Given the description of an element on the screen output the (x, y) to click on. 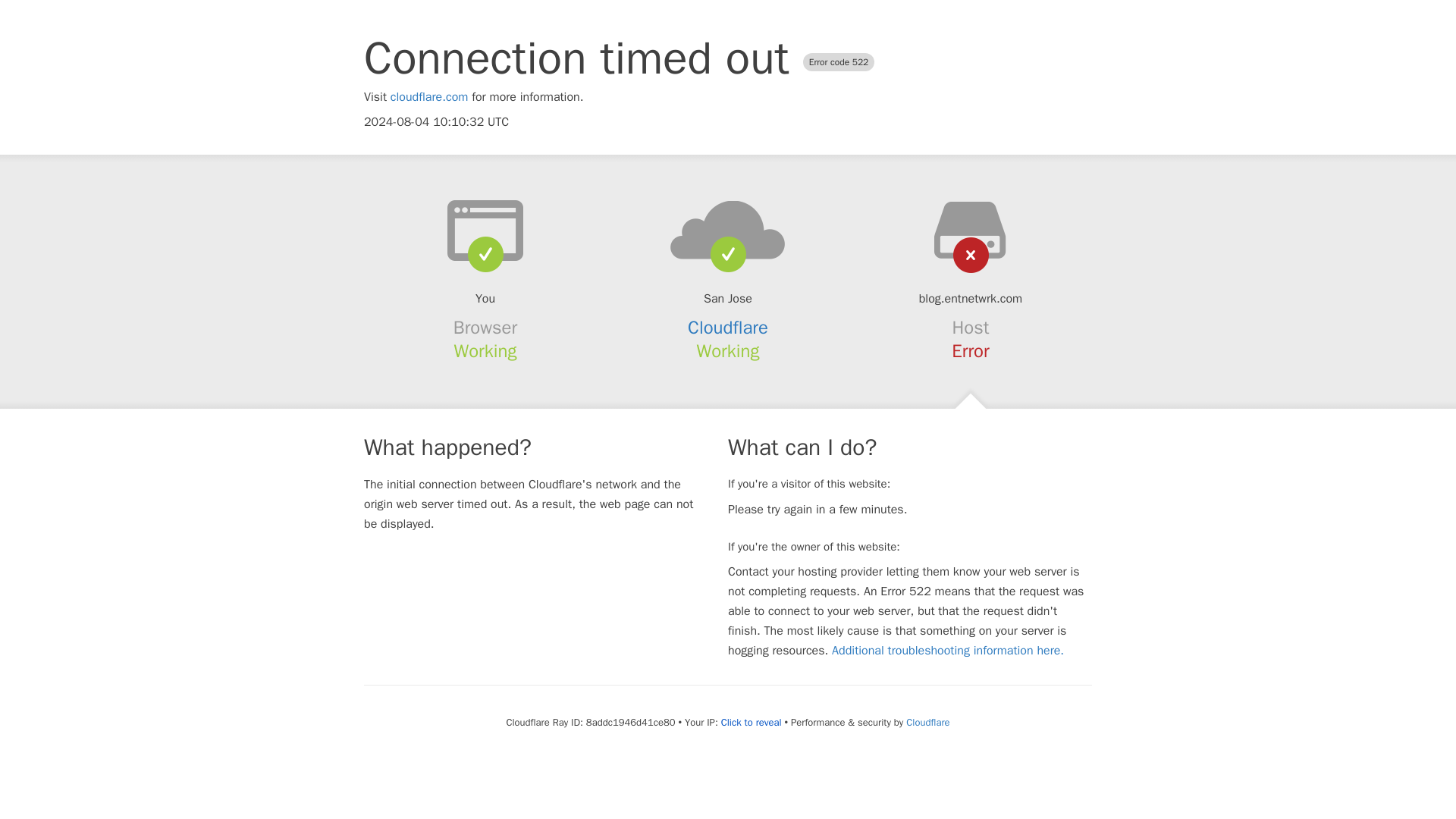
Additional troubleshooting information here. (947, 650)
Click to reveal (750, 722)
Cloudflare (927, 721)
cloudflare.com (429, 96)
Cloudflare (727, 327)
